Given the description of an element on the screen output the (x, y) to click on. 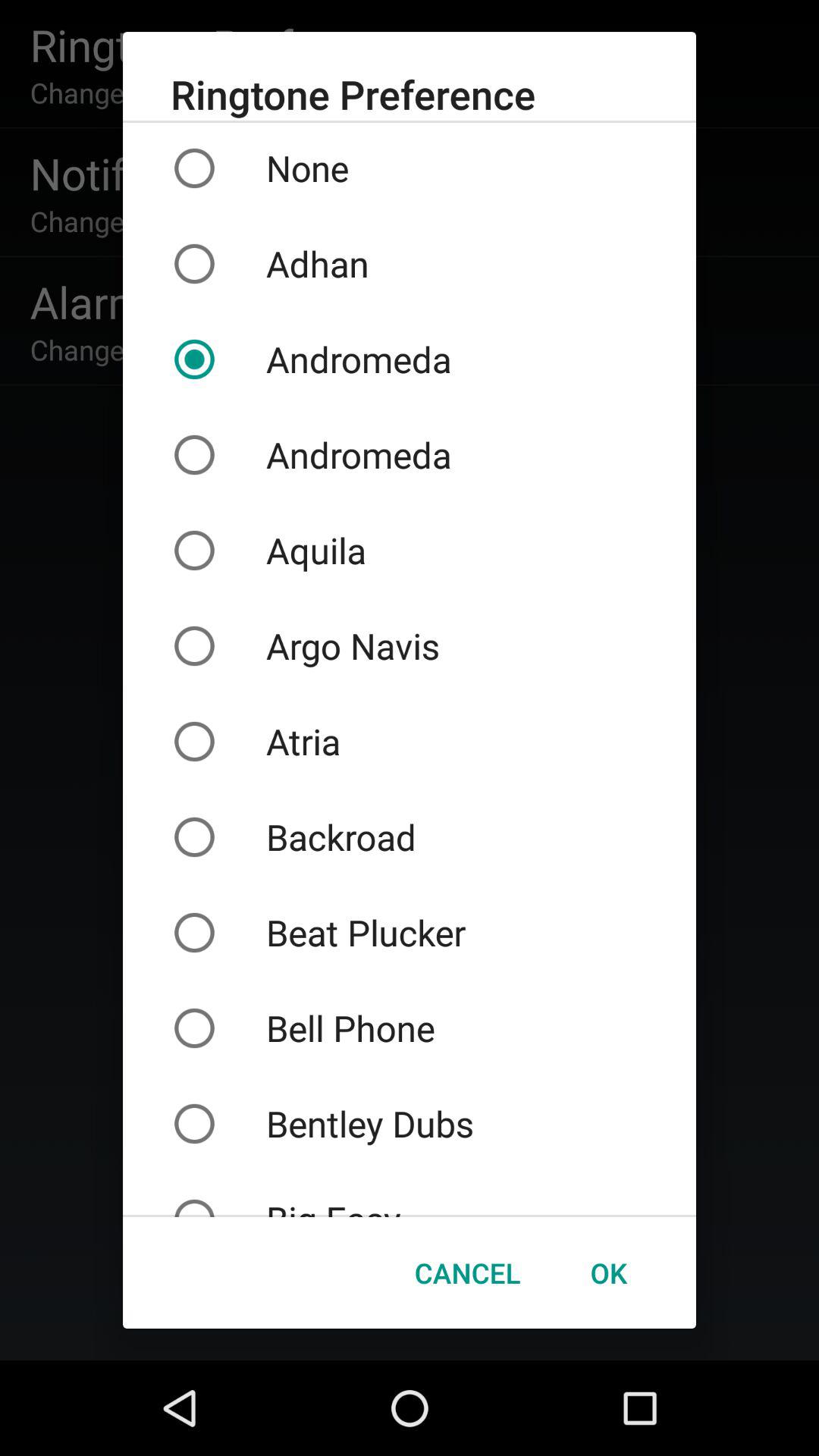
launch icon to the right of the cancel icon (608, 1272)
